Given the description of an element on the screen output the (x, y) to click on. 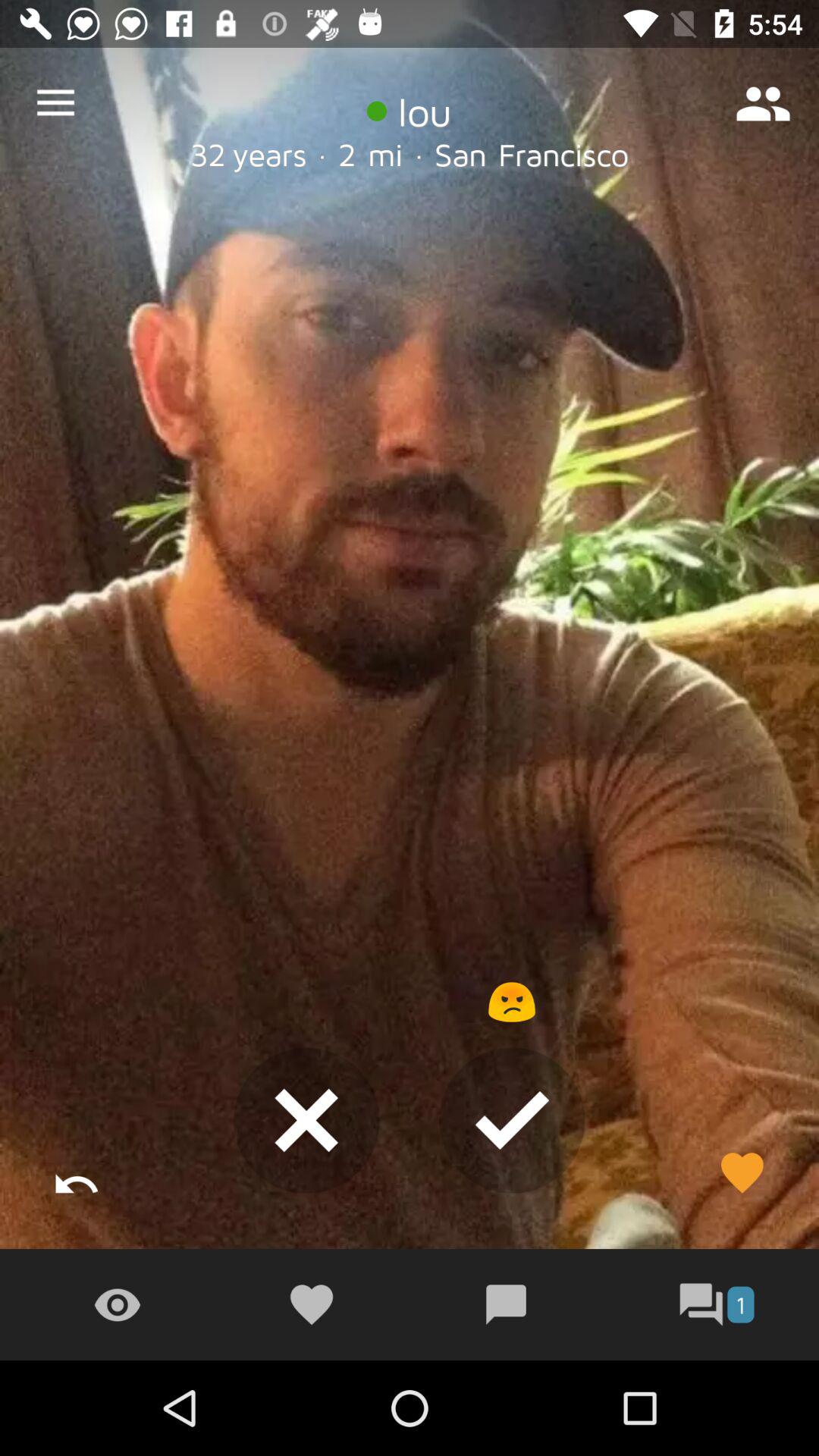
click on the symbol to the left of heart symbol (117, 1304)
